Given the description of an element on the screen output the (x, y) to click on. 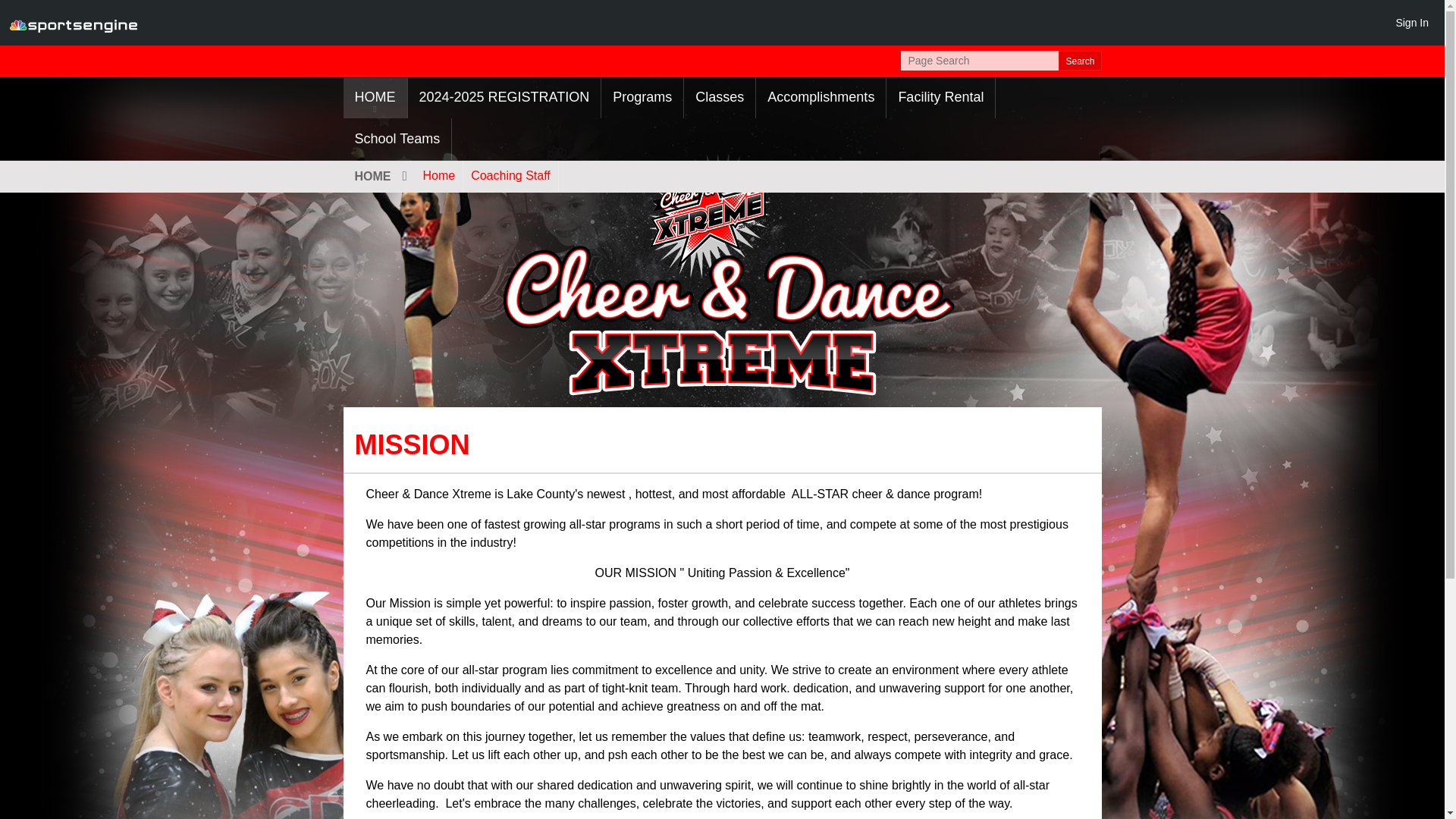
SportsEngine (73, 22)
2024-2025 REGISTRATION (504, 96)
click to go to 'Staff' (510, 175)
Sign In (1411, 22)
click to go to 'Recreational and High School Teams' (396, 138)
click to go to 'MISSION ' (374, 96)
Facility Rental (940, 96)
Programs (641, 96)
click to go to 'ABOUT' (438, 175)
click to go to 'Accomplishments' (820, 96)
Accomplishments (820, 96)
click to go to '2024-2025 REGISTRATION NOW OPEN' (504, 96)
HOME (378, 175)
HOME (374, 96)
School Teams (396, 138)
